Given the description of an element on the screen output the (x, y) to click on. 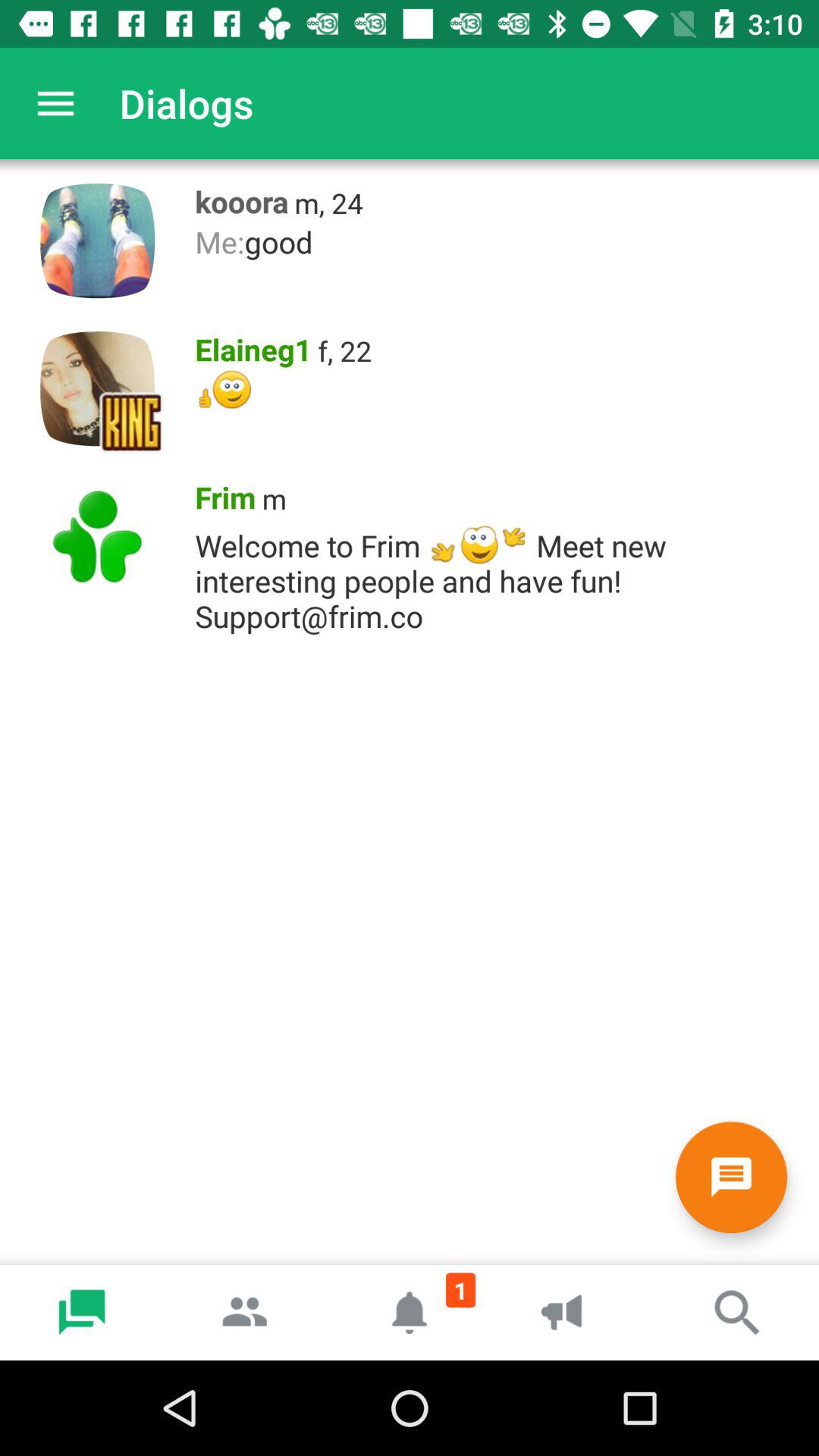
tap the item above *t* item (344, 350)
